Given the description of an element on the screen output the (x, y) to click on. 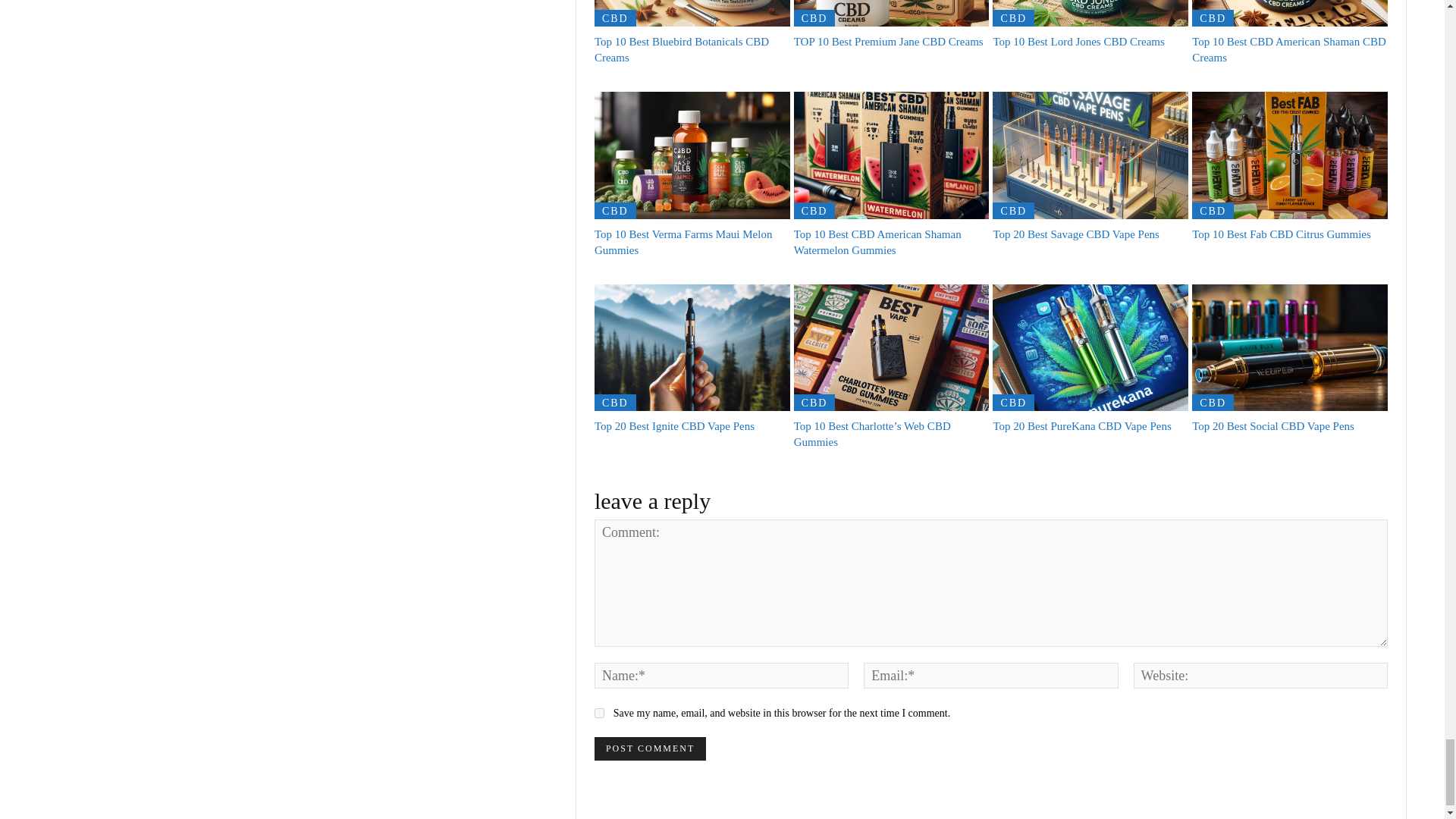
Post Comment (650, 748)
yes (599, 713)
